Given the description of an element on the screen output the (x, y) to click on. 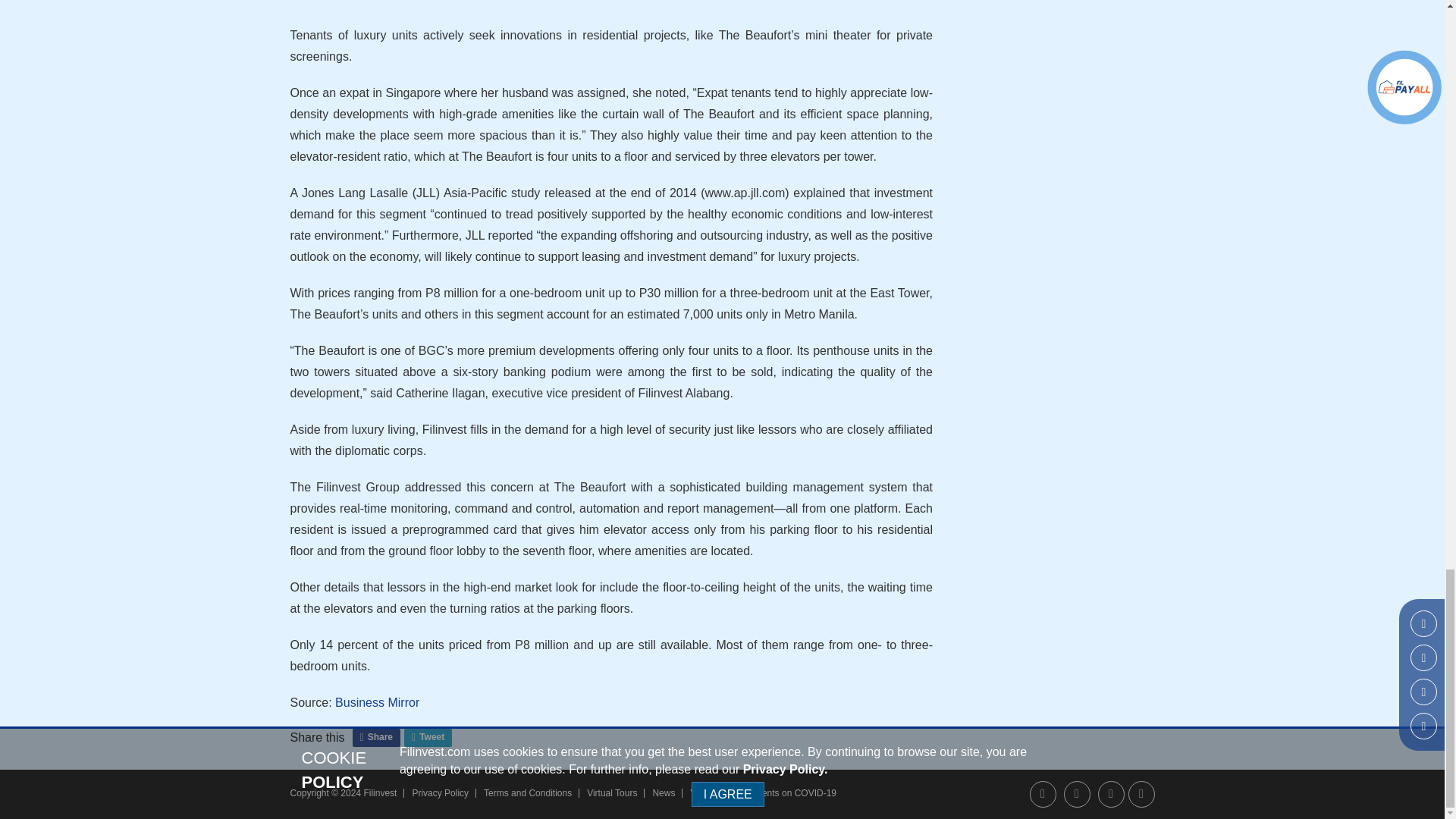
Terms and Conditions (527, 793)
Privacy Policy (440, 793)
Twitter (1110, 794)
Business Mirror (376, 702)
Tweet (427, 737)
Instagram (1077, 794)
YouTube (1141, 794)
Share (376, 737)
Virtual Tours (611, 793)
Facebook (1043, 794)
